Given the description of an element on the screen output the (x, y) to click on. 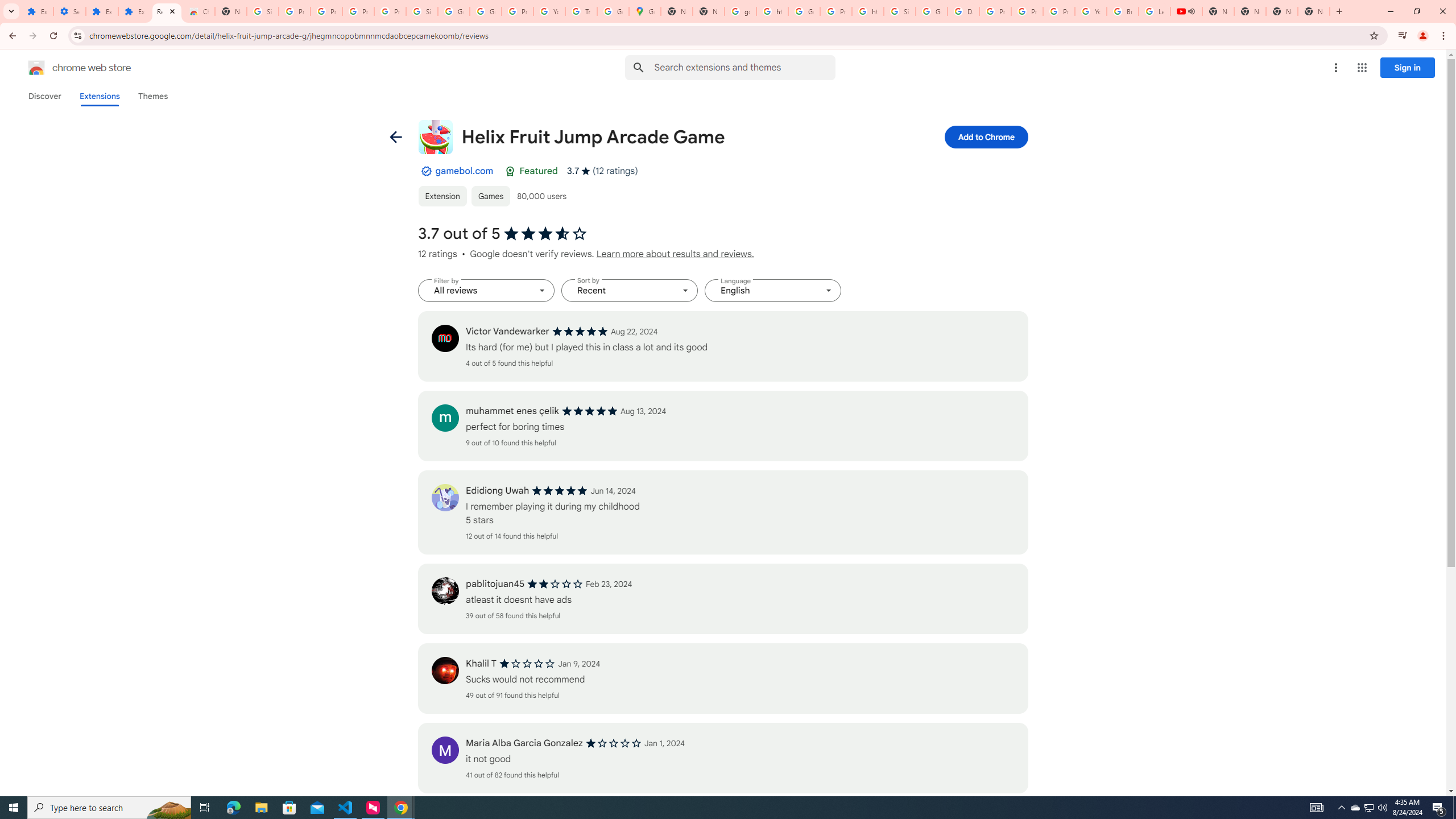
Add to Chrome (985, 136)
https://scholar.google.com/ (868, 11)
Google Maps (644, 11)
By Established Publisher Badge (425, 170)
Privacy Help Center - Policies Help (1027, 11)
Extensions (37, 11)
Learn more about results and reviews. (674, 253)
